Given the description of an element on the screen output the (x, y) to click on. 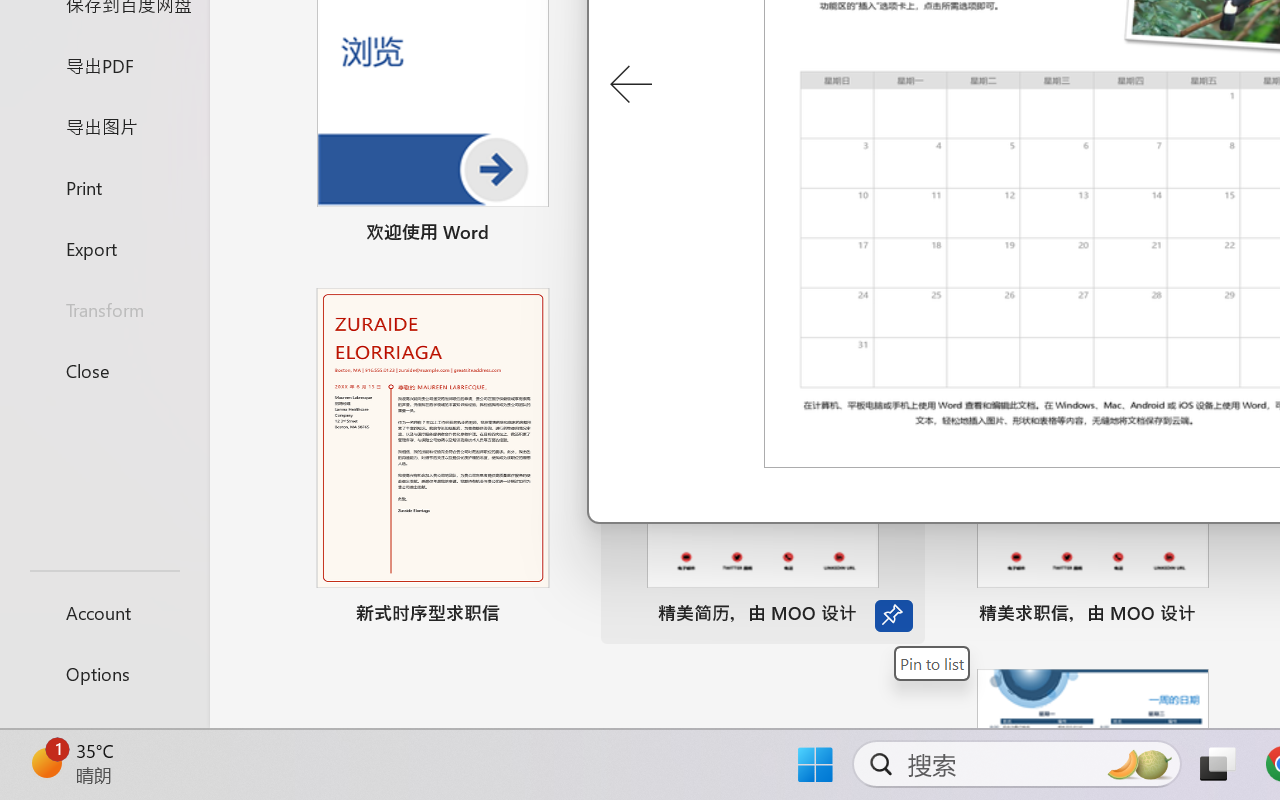
Pin to list (1223, 616)
